Given the description of an element on the screen output the (x, y) to click on. 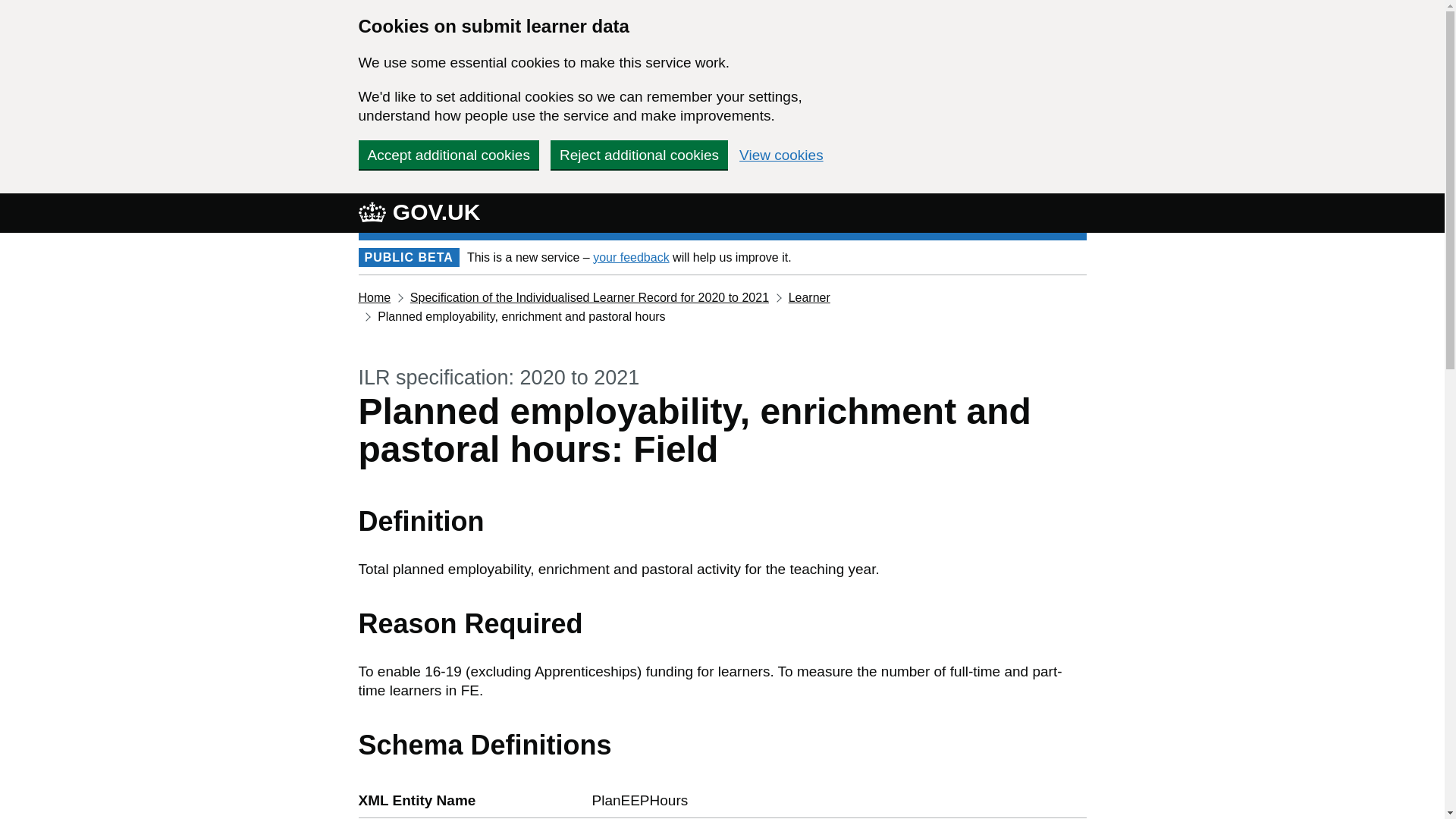
Learner (809, 297)
Reject additional cookies (639, 154)
Home (374, 297)
View cookies (781, 155)
your feedback (630, 256)
GOV.UK (419, 211)
Skip to main content (11, 7)
Go to the GOV.UK homepage (419, 211)
Accept additional cookies (448, 154)
